Given the description of an element on the screen output the (x, y) to click on. 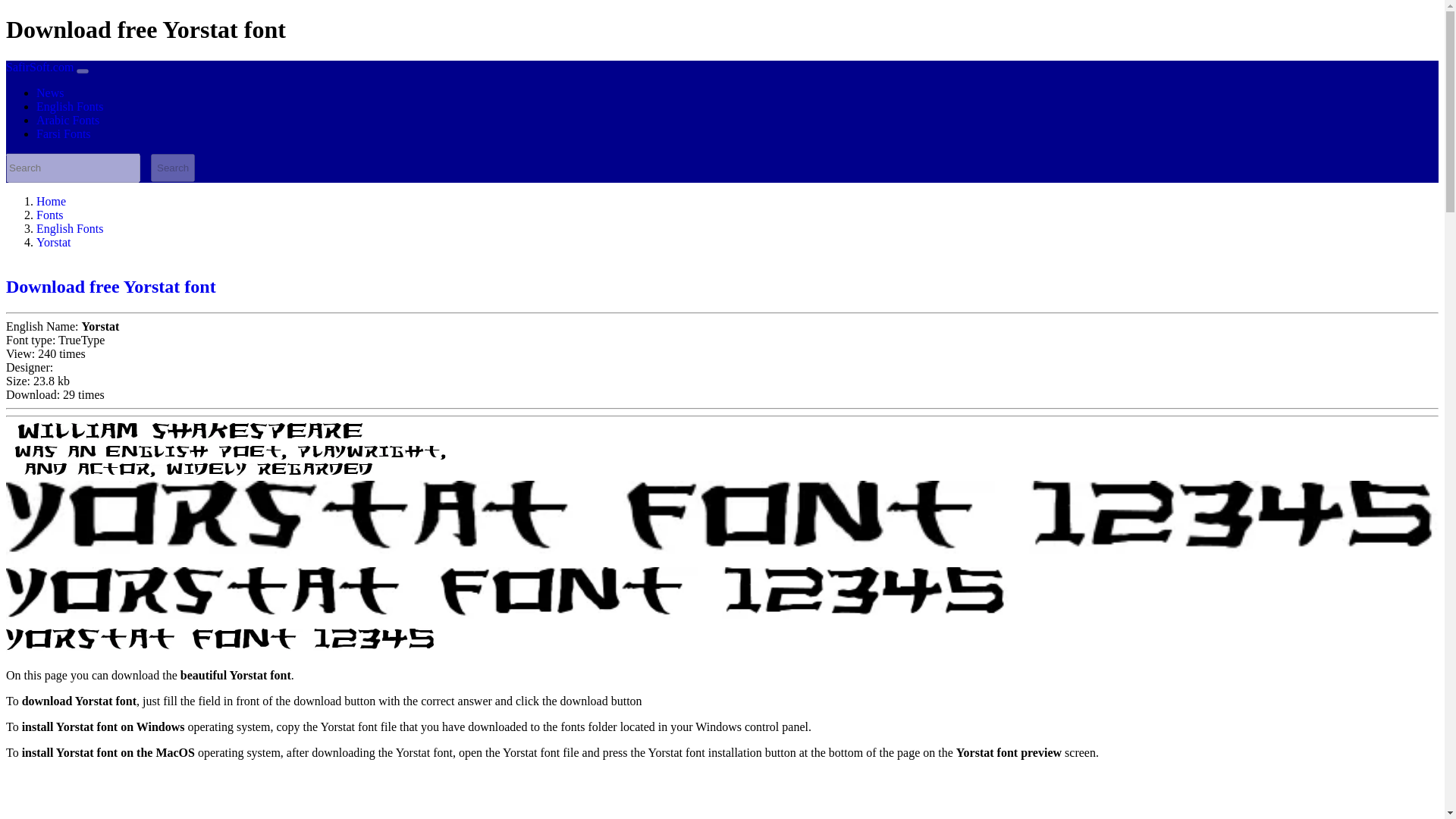
Sample of Yorstat Font (184, 433)
News (50, 92)
Advertisement (460, 795)
Arabic Fonts (67, 119)
Sample of Yorstat Font (194, 470)
Sample of Yorstat Font (220, 640)
Sample of Yorstat Font (226, 452)
Download free Yorstat font (110, 286)
Sample of Yorstat Font (507, 596)
Fonts (50, 214)
Home (50, 201)
Yorstat (53, 241)
English Fonts (69, 106)
Search (173, 167)
Farsi Fonts (63, 133)
